Given the description of an element on the screen output the (x, y) to click on. 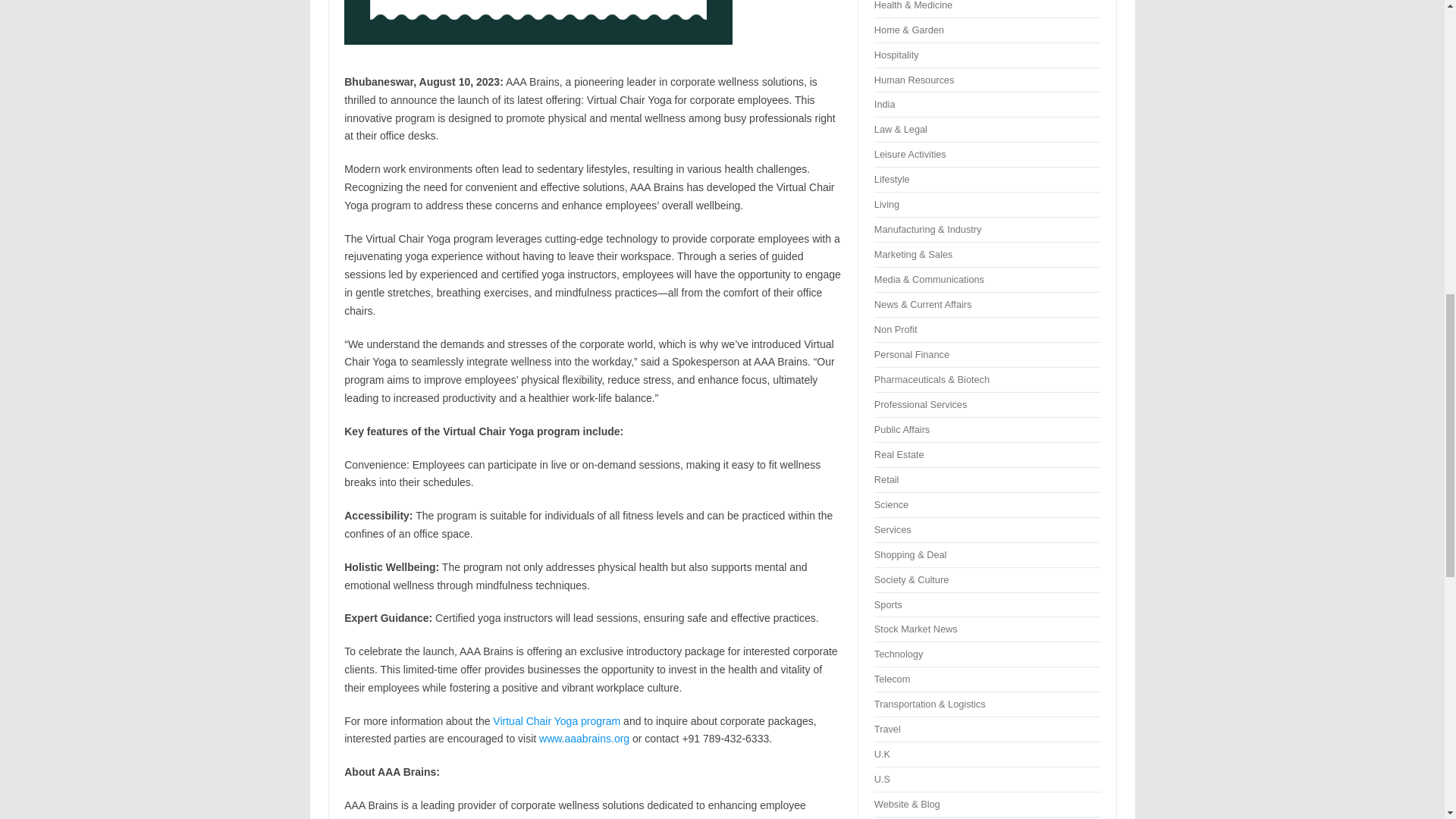
Virtual Chair Yoga program (556, 720)
www.aaabrains.org (583, 738)
